Given the description of an element on the screen output the (x, y) to click on. 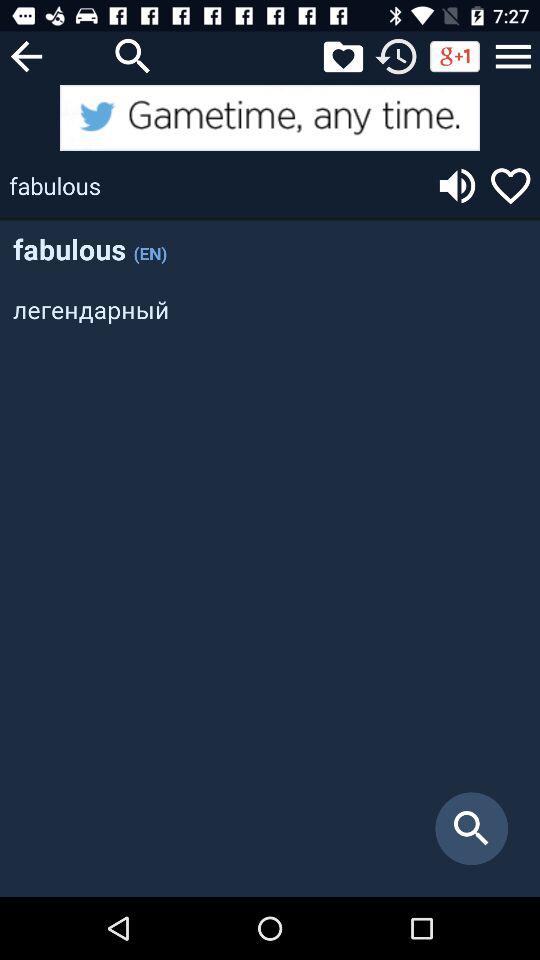
go to time button (396, 56)
